Given the description of an element on the screen output the (x, y) to click on. 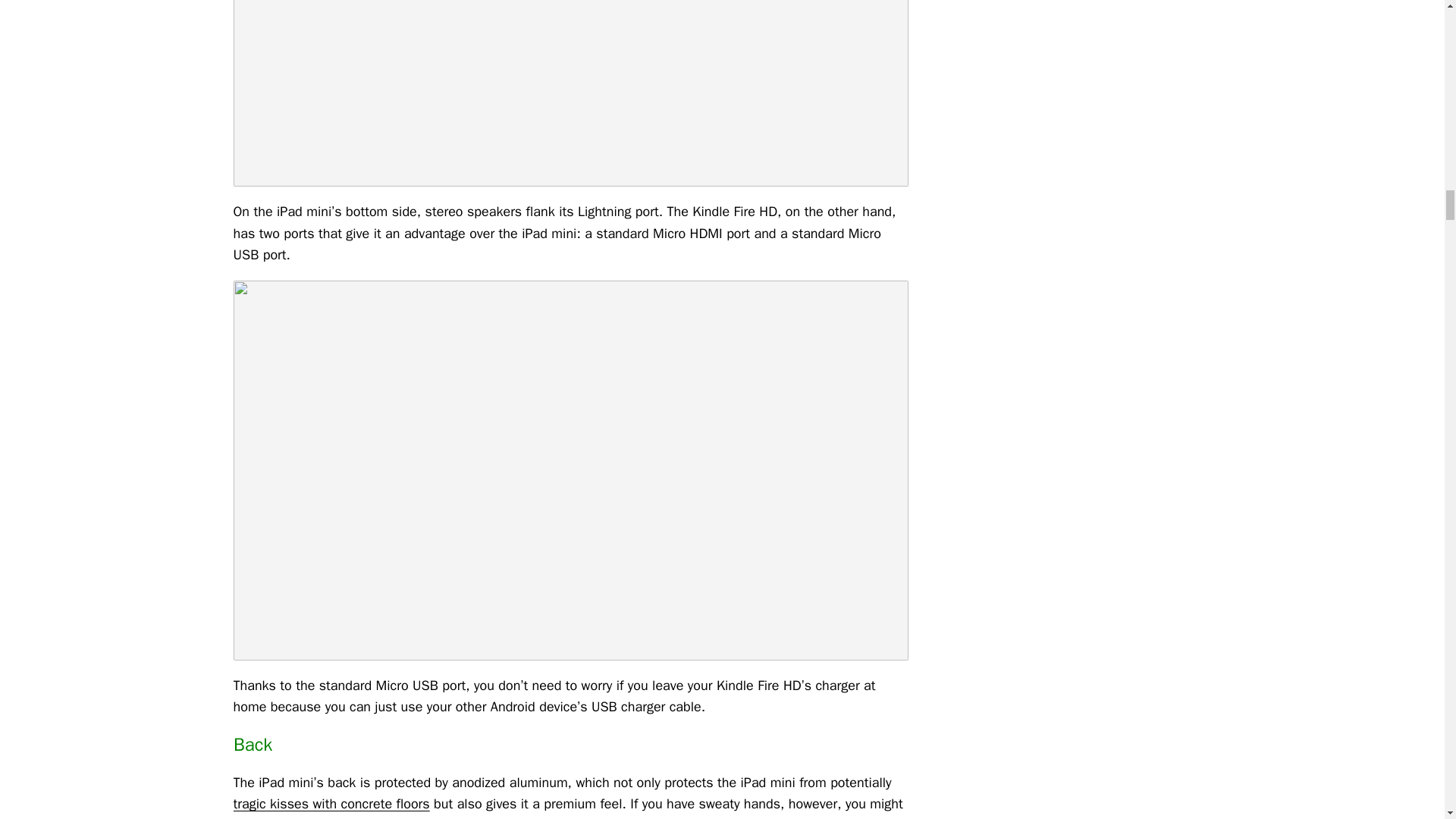
tragic kisses with concrete floors (330, 803)
